Given the description of an element on the screen output the (x, y) to click on. 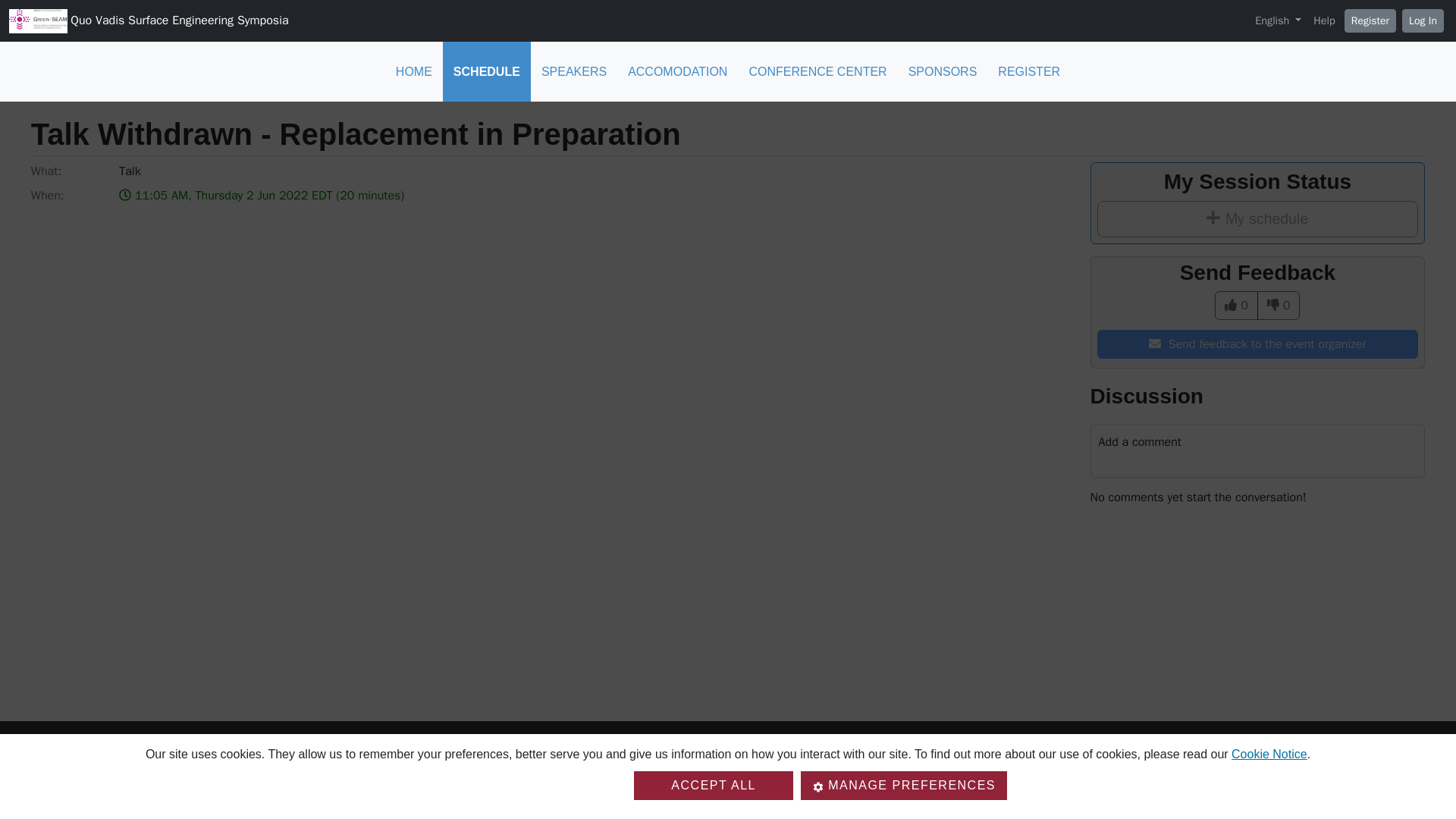
My schedule (1257, 218)
MANAGE PREFERENCES (903, 785)
 Send feedback to the event organizer (1257, 344)
SPEAKERS (574, 71)
CONFERENCE CENTER (817, 71)
ACCEPT ALL (713, 785)
Register (1369, 20)
0 (1278, 305)
HOME (413, 71)
ACCOMODATION (677, 71)
Help (1323, 21)
Quo Vadis Surface Engineering Symposia (148, 21)
Cookie Notice (1269, 753)
0 (1235, 305)
English (1278, 21)
